Given the description of an element on the screen output the (x, y) to click on. 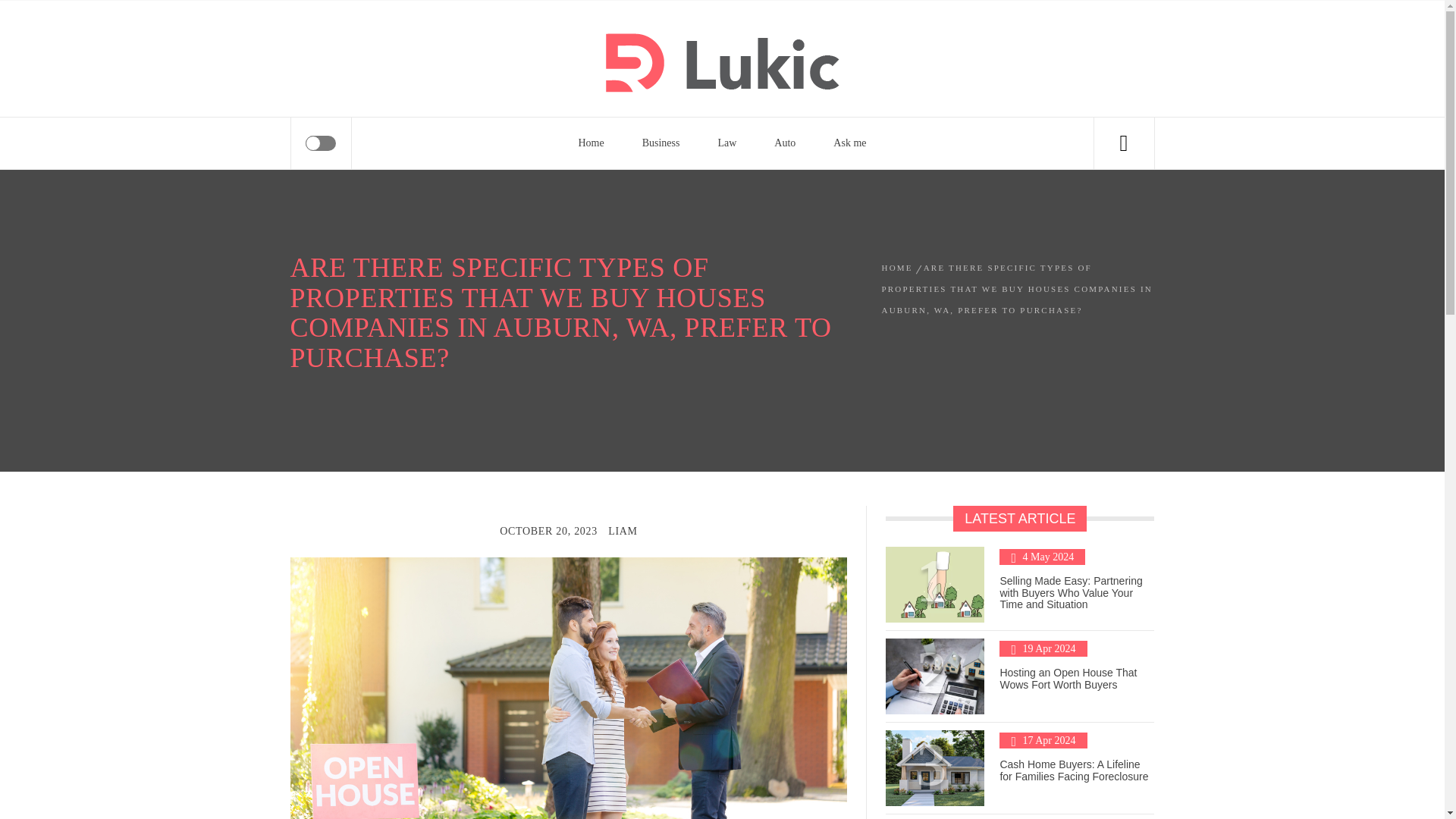
Business (660, 142)
Hosting an Open House That Wows Fort Worth Buyers (1067, 678)
OCTOBER 20, 2023 (547, 531)
Ask me (849, 142)
Cash Home Buyers: A Lifeline for Families Facing Foreclosure (1073, 770)
Auto (784, 142)
Home (591, 142)
Search (797, 41)
Law (726, 142)
